Given the description of an element on the screen output the (x, y) to click on. 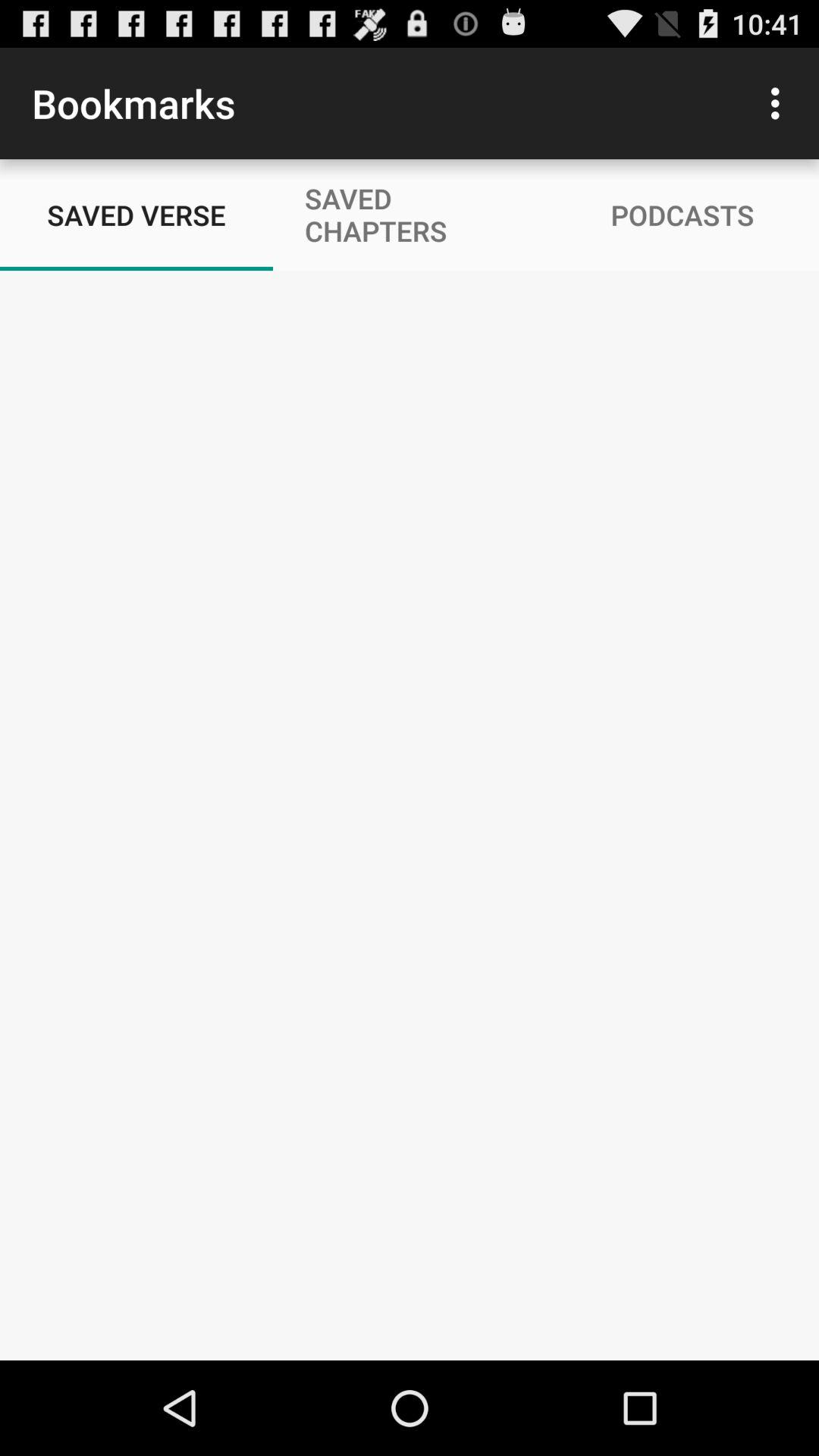
daily bible audio reading plans devos (409, 815)
